Given the description of an element on the screen output the (x, y) to click on. 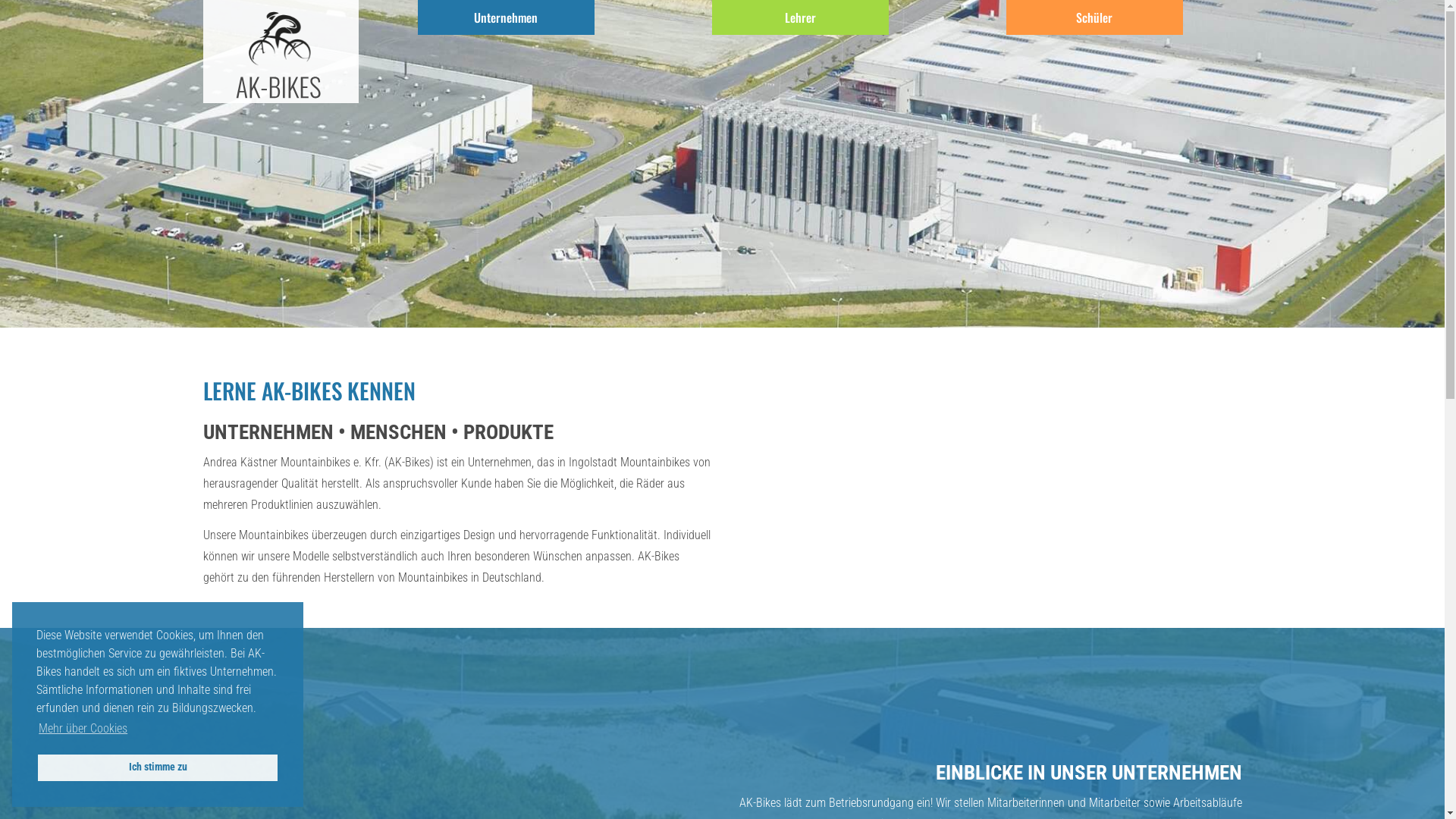
Unternehmen Element type: text (506, 17)
Ich stimme zu Element type: text (157, 767)
  Element type: text (357, 34)
Lehrer Element type: text (800, 17)
